Given the description of an element on the screen output the (x, y) to click on. 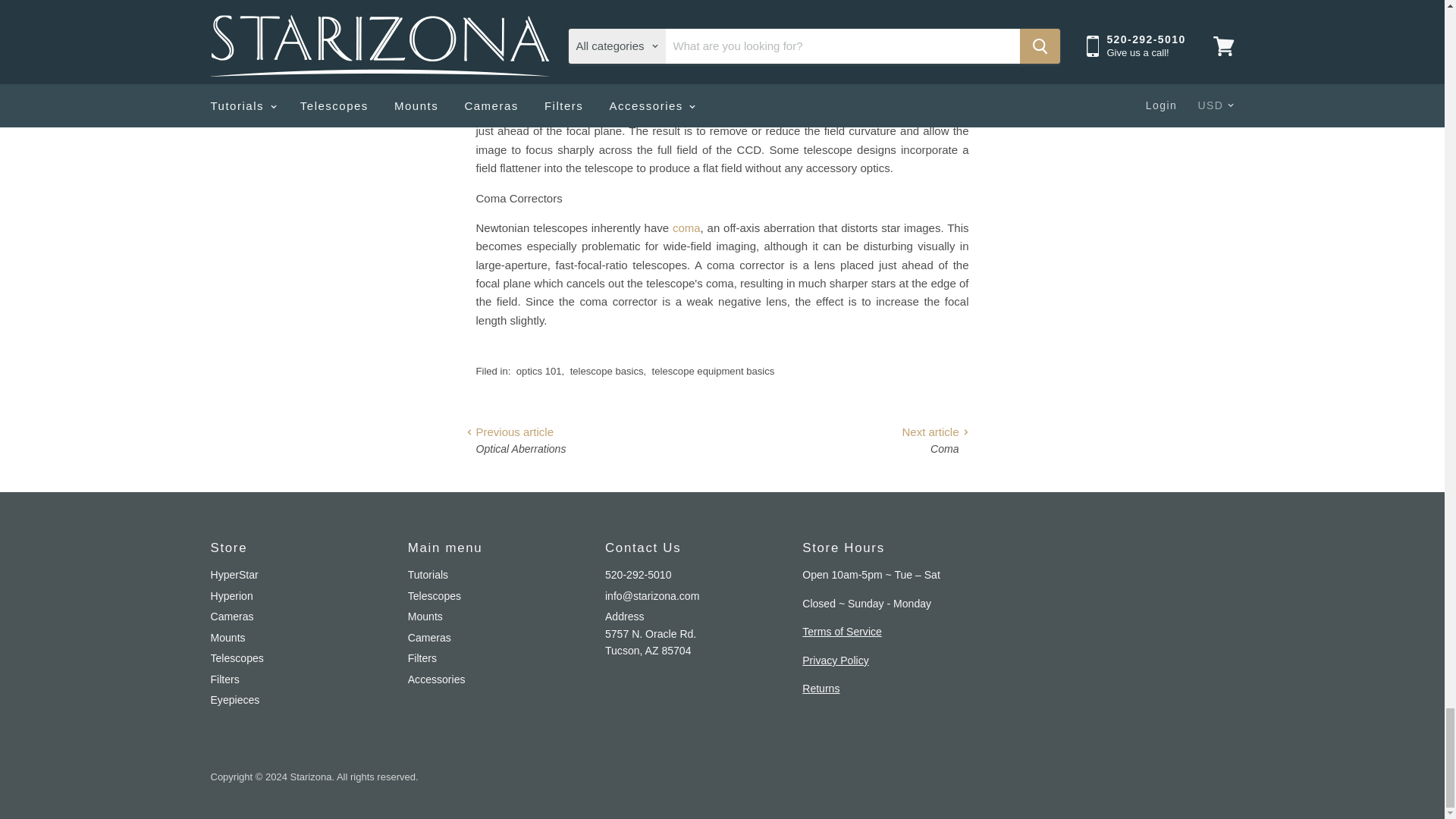
Show articles tagged telescope equipment basics (713, 370)
Show articles tagged telescope basics (606, 370)
Show articles tagged optics 101 (539, 370)
